Given the description of an element on the screen output the (x, y) to click on. 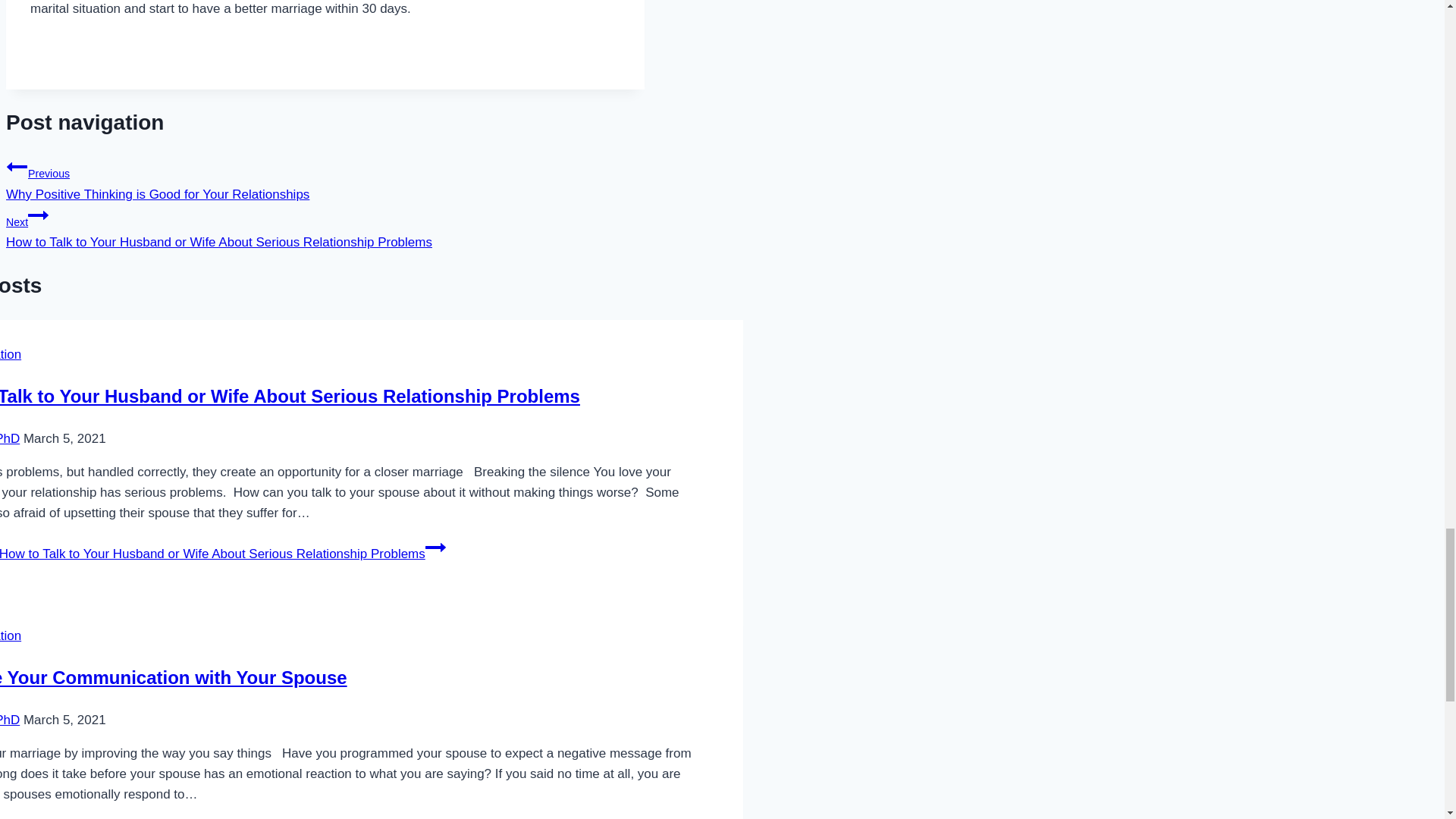
Communication (10, 354)
Continue (37, 215)
Improve Your Communication with Your Spouse (173, 677)
Communication (10, 635)
Jack Ito PhD (10, 438)
Continue (435, 547)
Jack Ito PhD (10, 719)
Previous (16, 166)
